Given the description of an element on the screen output the (x, y) to click on. 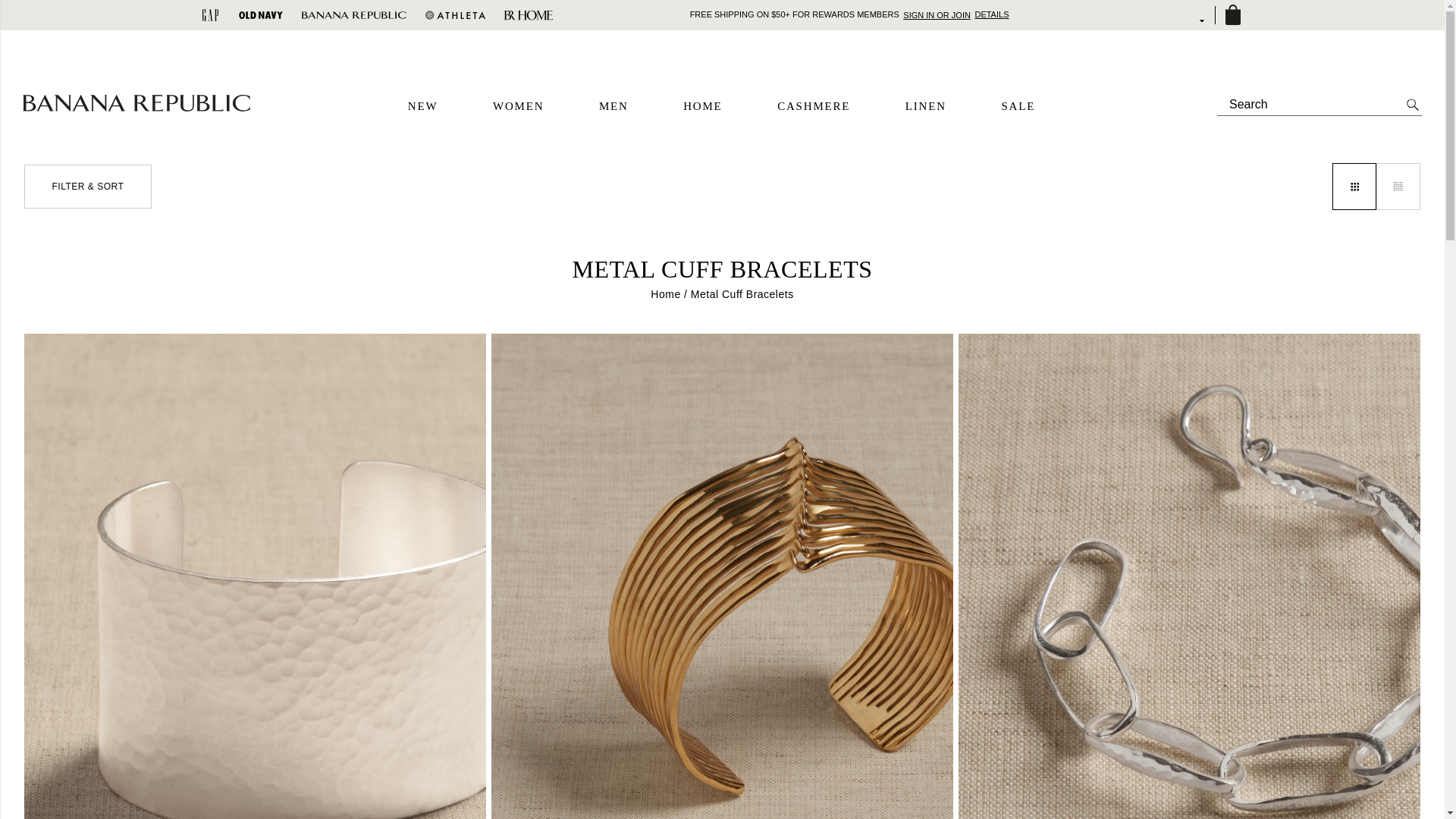
SIGN IN OR JOIN (937, 14)
HOME (702, 106)
MEN (613, 106)
DETAILS (991, 13)
CASHMERE (813, 106)
WOMEN (518, 106)
Bag (1232, 15)
LINEN (925, 106)
Home (664, 294)
